Given the description of an element on the screen output the (x, y) to click on. 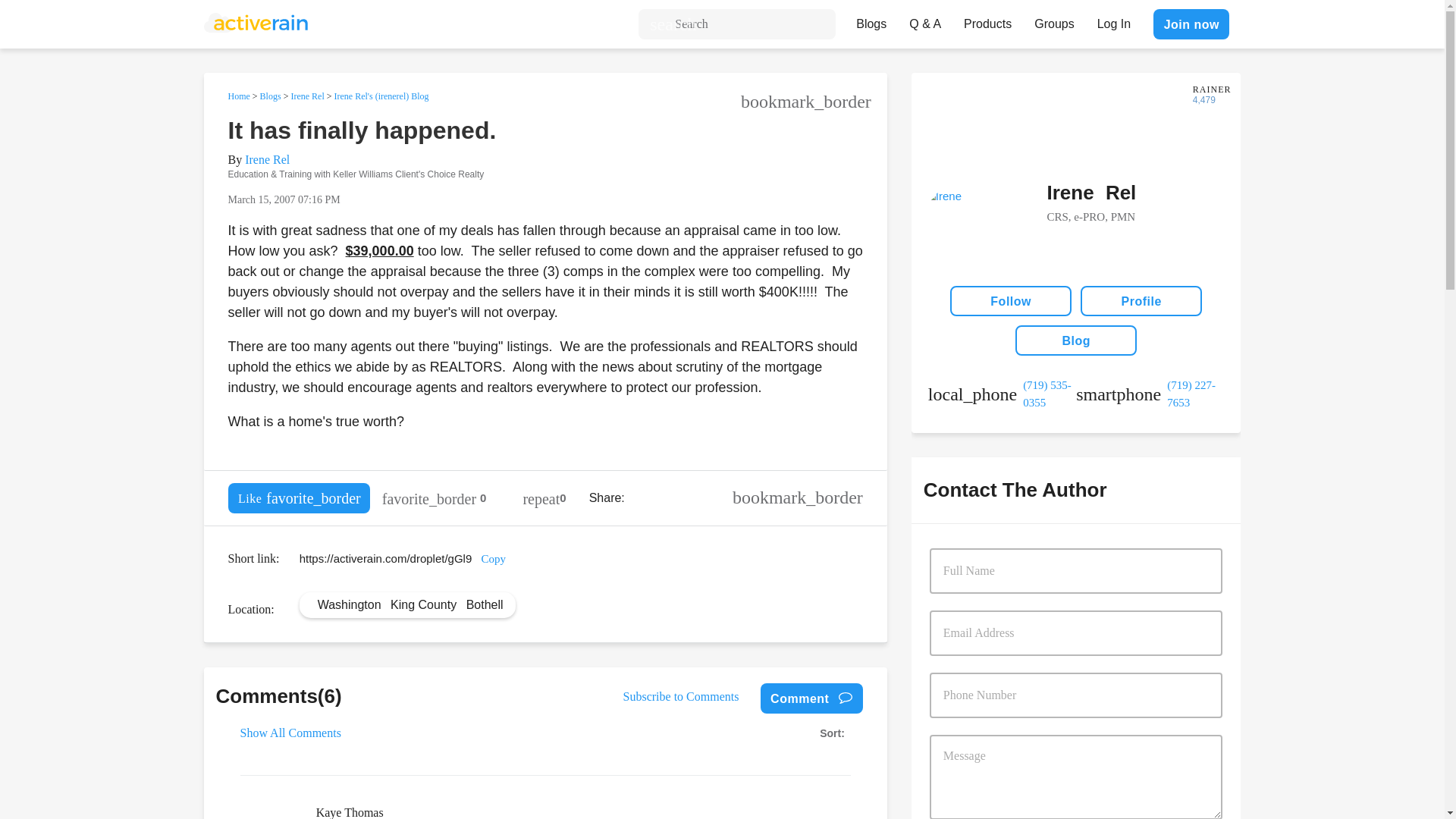
Washington (349, 603)
This entry hasn't been re-blogged (544, 498)
Blogs (870, 19)
Irene Rel (306, 95)
Products (986, 19)
Irene Rel (266, 159)
King County (423, 603)
Join now (1190, 24)
cell (1149, 393)
Home (237, 95)
